Given the description of an element on the screen output the (x, y) to click on. 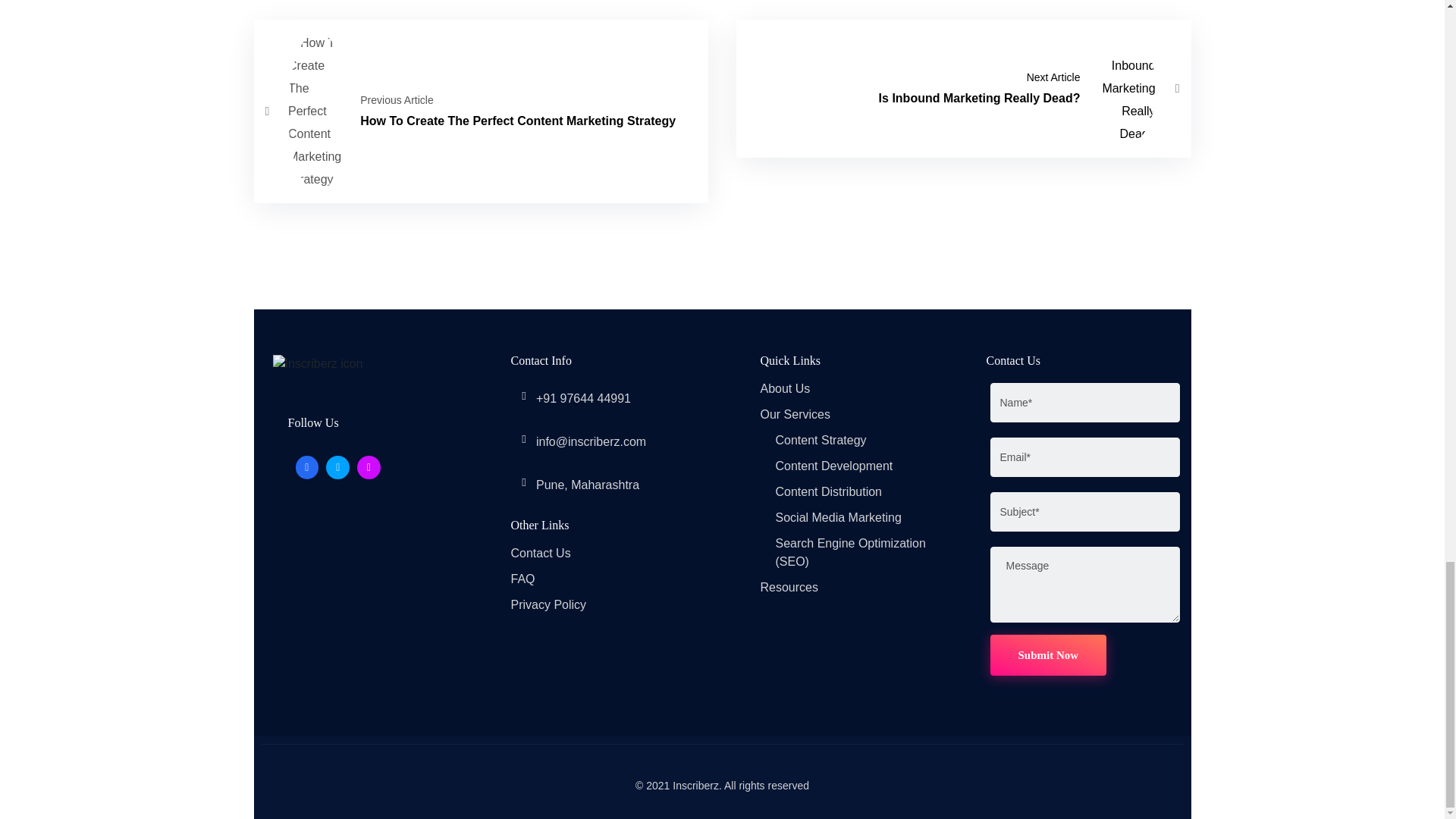
Our Services (794, 413)
Contact Us (540, 553)
Privacy Policy (548, 604)
Content Development (833, 465)
Submit Now (963, 88)
Is Inbound Marketing Really Dead? (1048, 654)
About Us (963, 88)
FAQ (784, 388)
Content Strategy (523, 578)
How To Create The Perfect Content Marketing Strategy (820, 440)
